Given the description of an element on the screen output the (x, y) to click on. 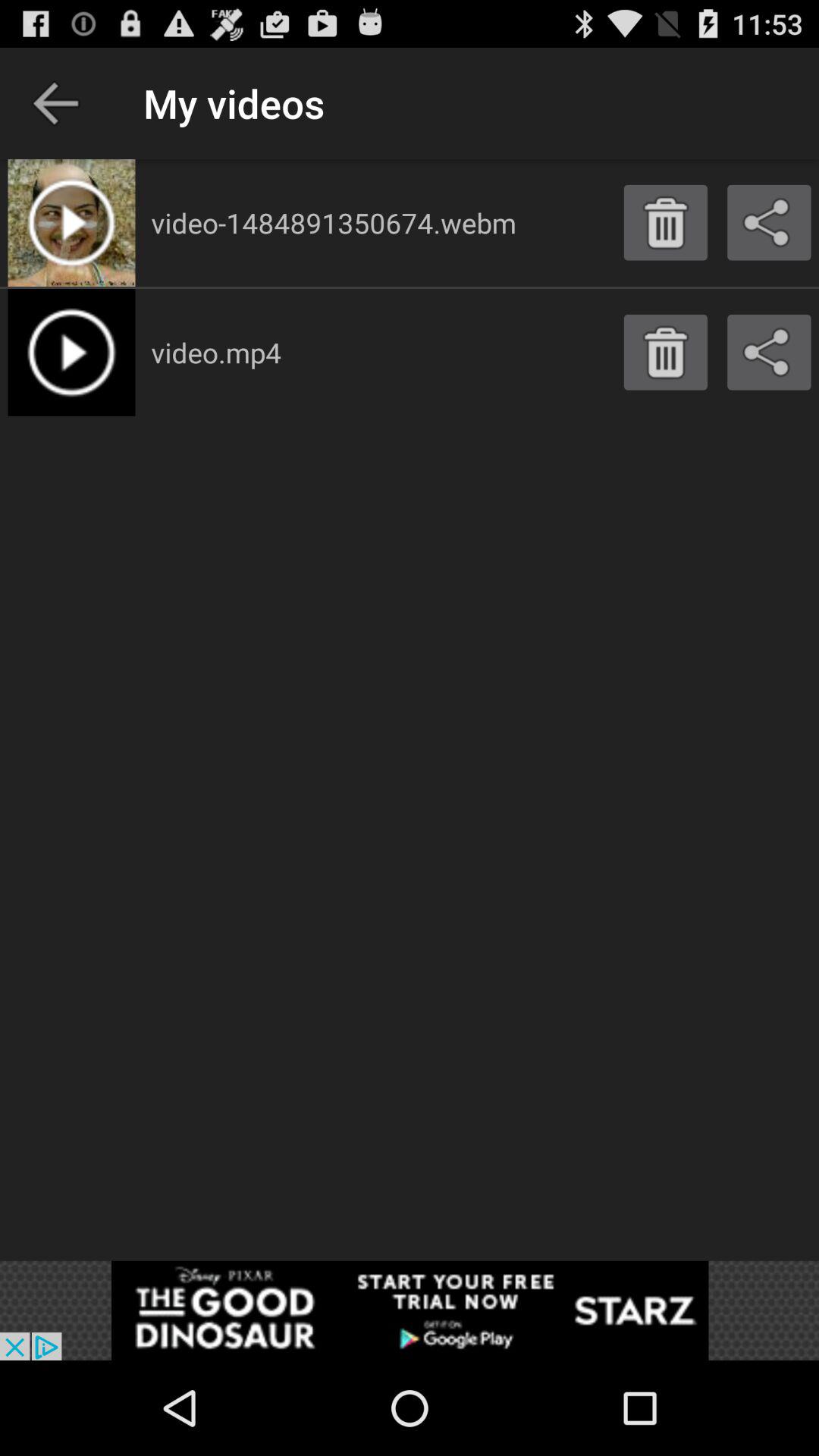
switch autoplay option (409, 1310)
